Given the description of an element on the screen output the (x, y) to click on. 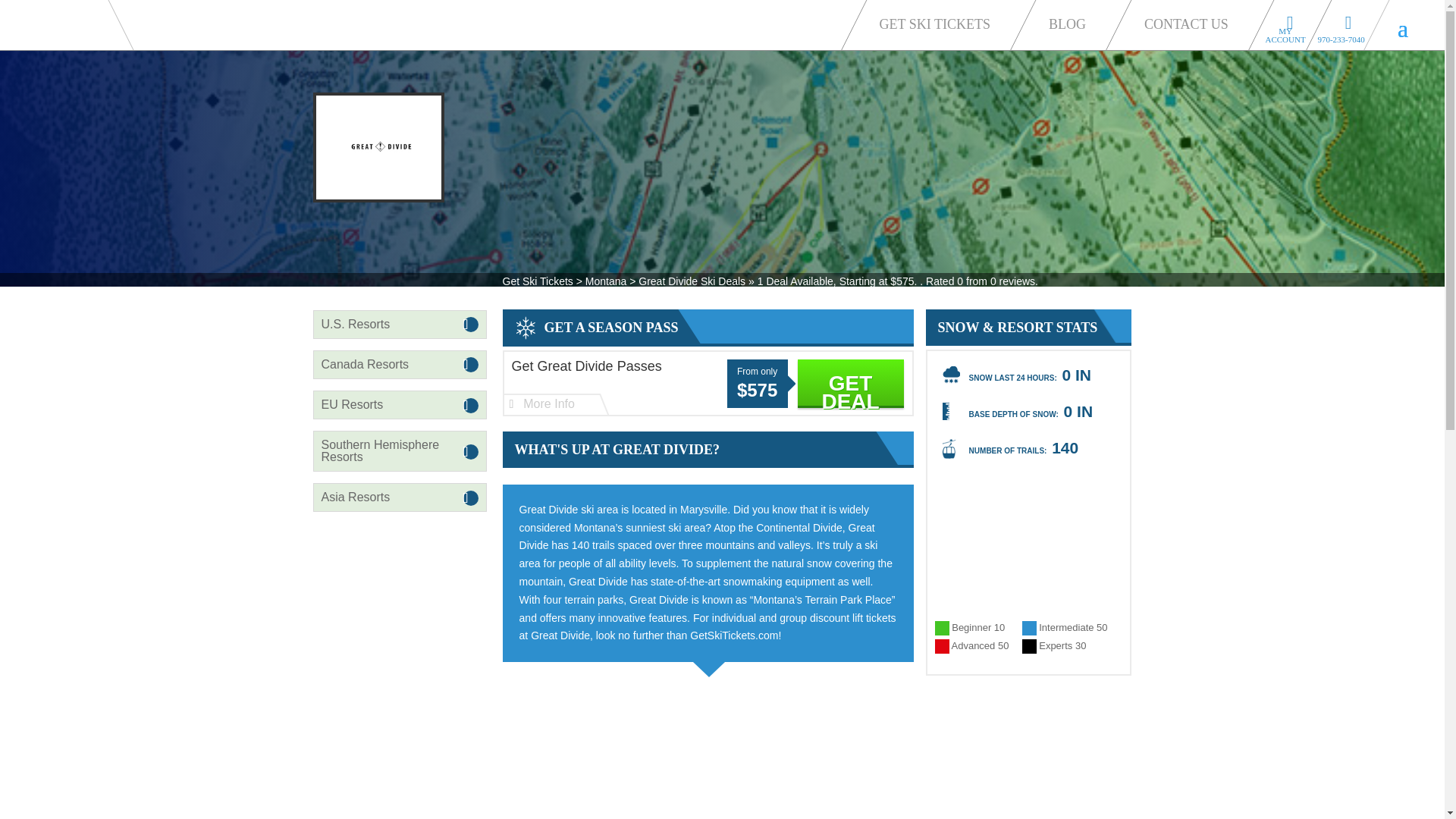
Get Ski Tickets (537, 281)
Go to Montana. (605, 281)
Go to Get Ski Tickets. (537, 281)
BLOG (1071, 22)
GET SKI TICKETS (938, 22)
CONTACT US (1190, 22)
Montana (605, 281)
